Given the description of an element on the screen output the (x, y) to click on. 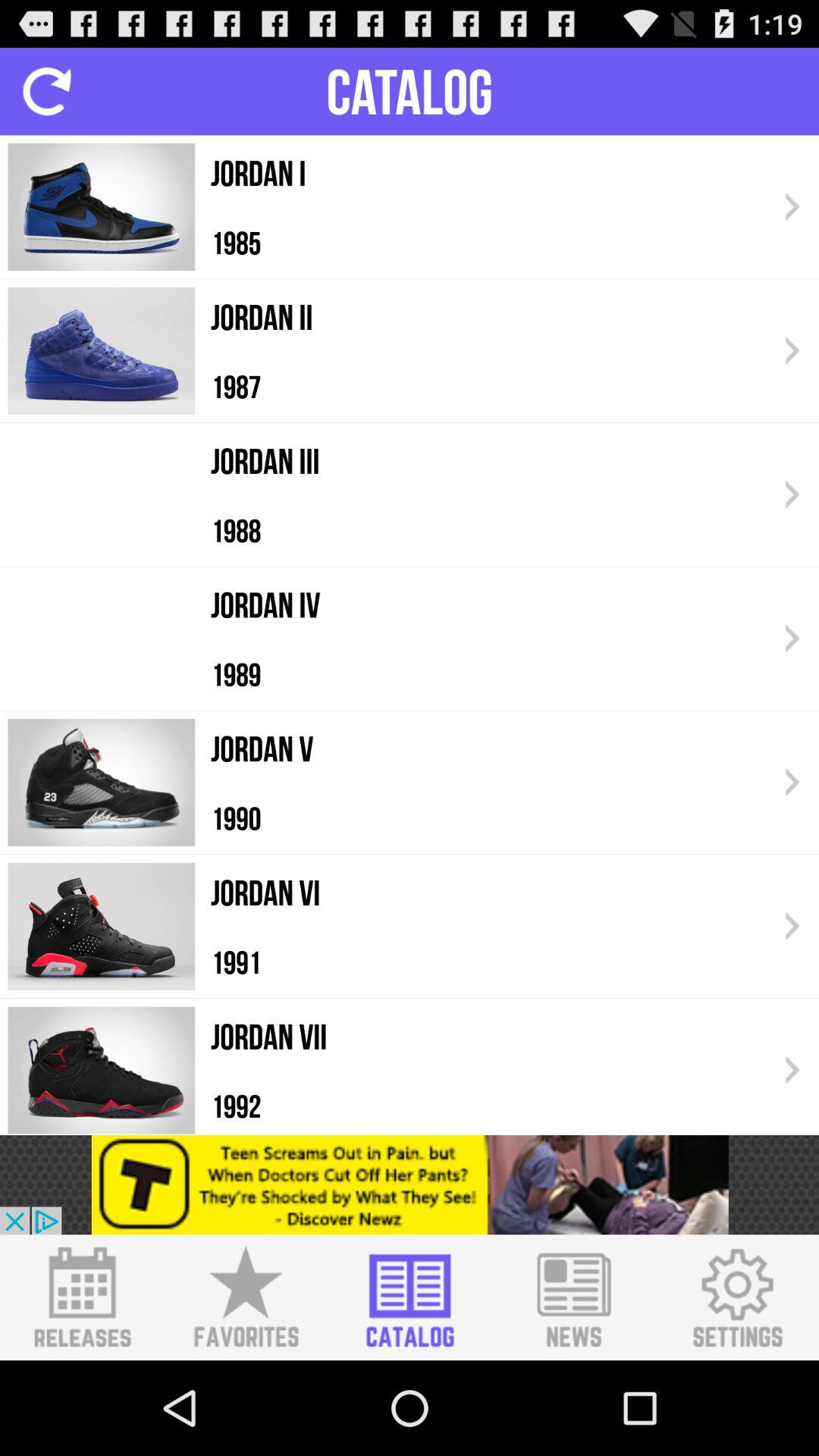
go to catalog menu (409, 1297)
